Given the description of an element on the screen output the (x, y) to click on. 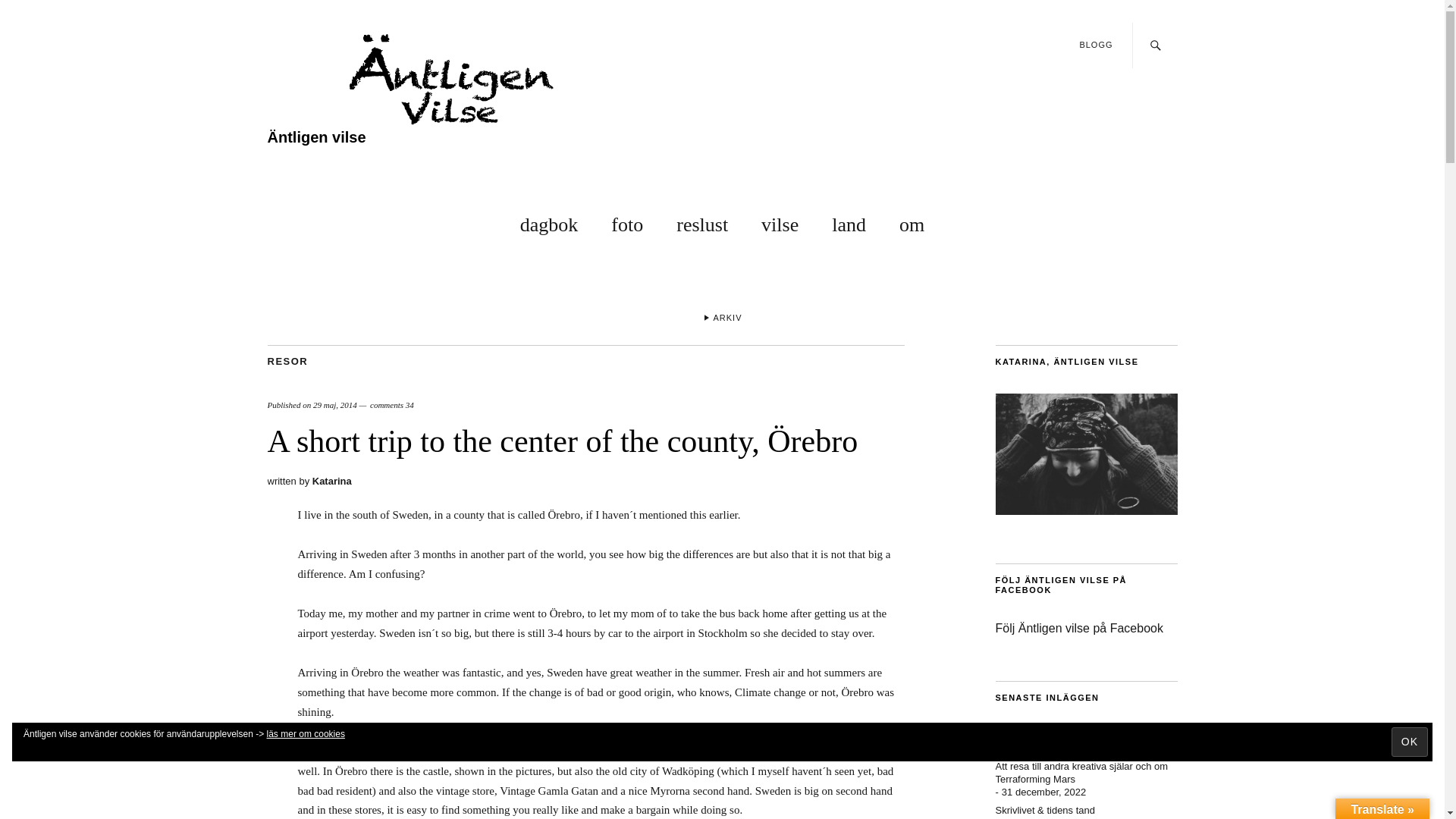
All posts by Katarina (332, 480)
foto (627, 221)
dagbok (548, 221)
BLOGG (1095, 44)
OK (1409, 741)
vilse (779, 221)
land (848, 221)
reslust (702, 221)
